Given the description of an element on the screen output the (x, y) to click on. 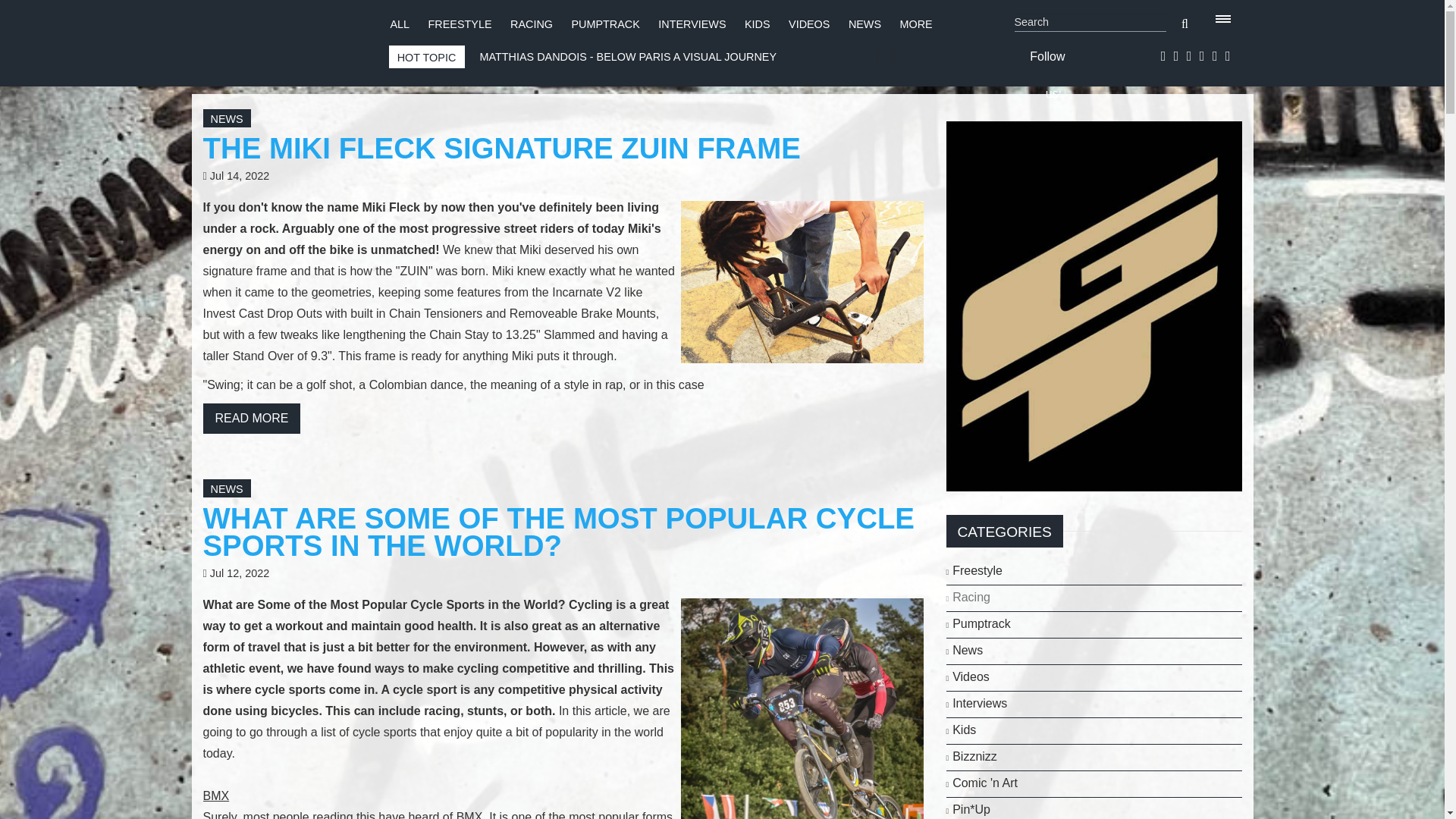
search (1185, 23)
FREESTYLE (460, 24)
READ MORE (252, 418)
Search (1090, 22)
FATBMX Your Online BMX News Resource Since 1998 (281, 38)
WHAT ARE SOME OF THE MOST POPULAR CYCLE SPORTS IN THE WORLD? (558, 531)
VIDEOS (809, 24)
NEWS (227, 119)
KIDS (757, 24)
INTERVIEWS (691, 24)
search (1185, 23)
NEWS (864, 24)
GT BMX (1093, 305)
THE MIKI FLECK SIGNATURE ZUIN FRAME (501, 147)
RACING (532, 24)
